Given the description of an element on the screen output the (x, y) to click on. 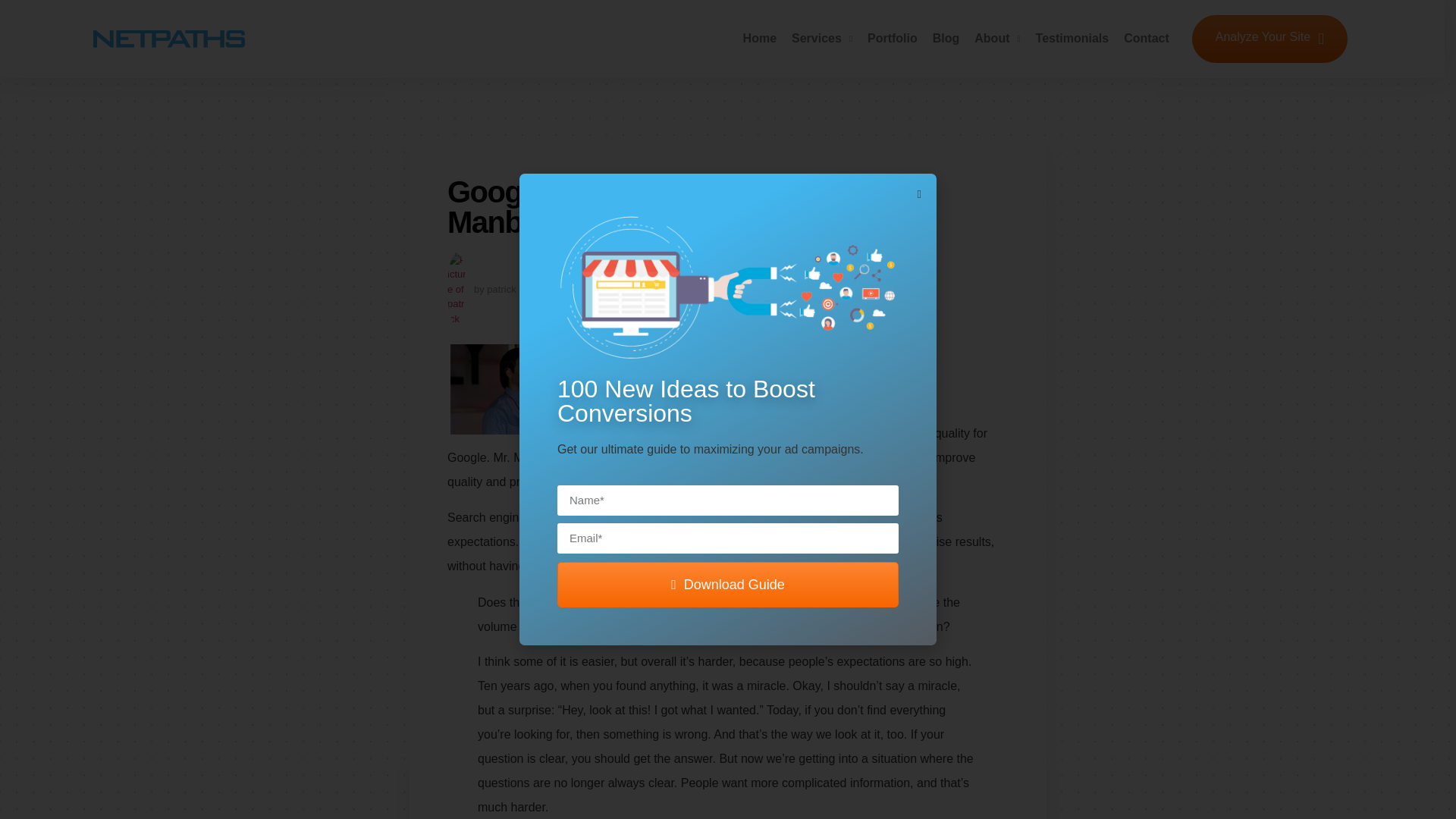
About (997, 38)
Home (759, 38)
Analyze Your Site (1270, 39)
Portfolio (892, 38)
Testimonials (1072, 38)
Contact (1146, 38)
Blog (946, 38)
Services (821, 38)
Udi-Manber google (524, 388)
